Given the description of an element on the screen output the (x, y) to click on. 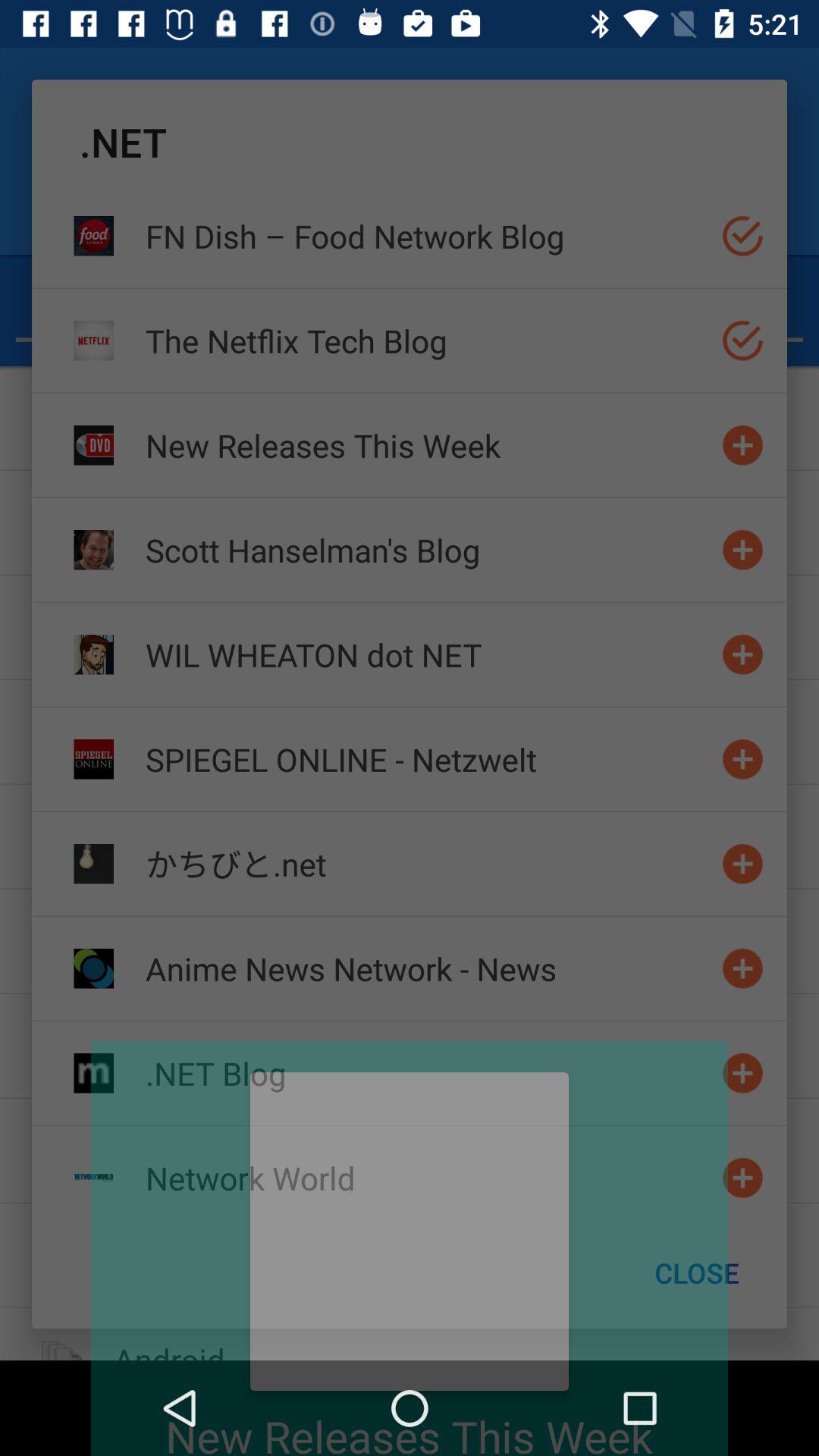
press icon below .net blog icon (426, 1177)
